Given the description of an element on the screen output the (x, y) to click on. 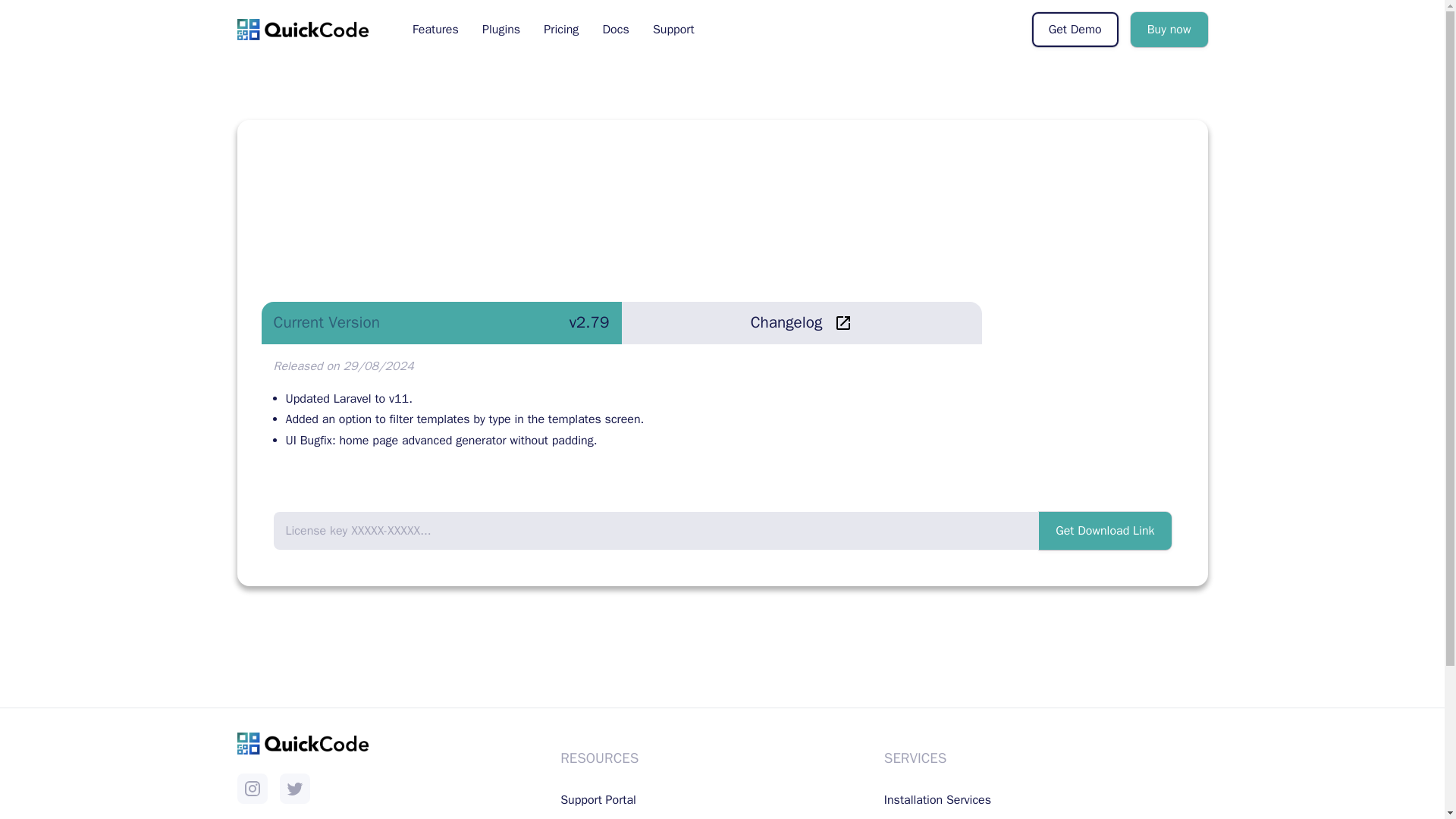
Support (673, 29)
Support Portal (598, 799)
Get Download Link (1104, 530)
Pricing (560, 29)
Features (434, 29)
Buy now (1169, 29)
Installation Services (937, 799)
Plugins (501, 29)
Get Demo (1075, 29)
Docs (616, 29)
